Given the description of an element on the screen output the (x, y) to click on. 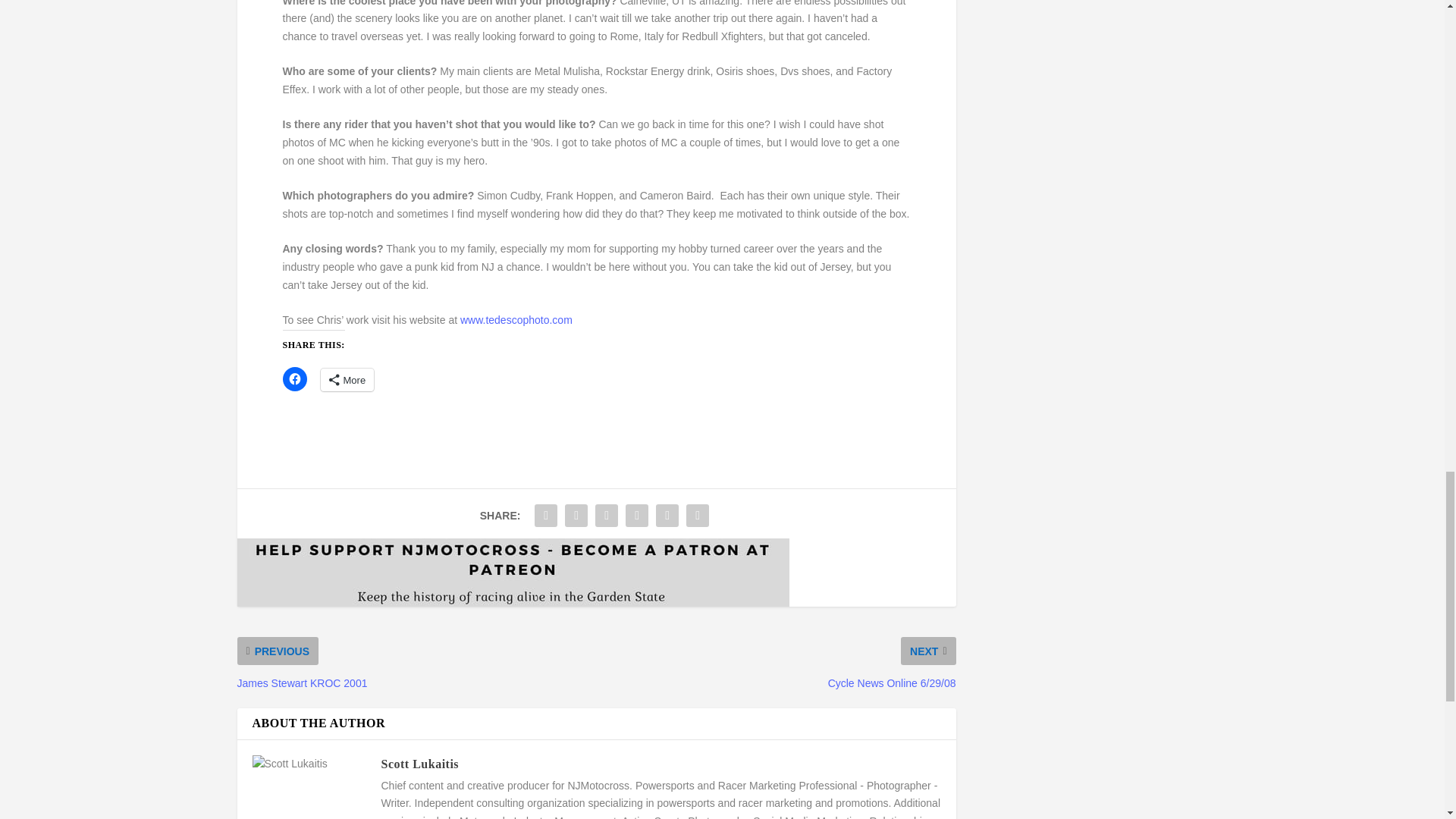
Share "Chris Tedesco Interview" via LinkedIn (606, 515)
www.tedescophoto.com (516, 319)
Share "Chris Tedesco Interview" via Print (697, 515)
View all posts by Scott Lukaitis (419, 763)
Share "Chris Tedesco Interview" via Twitter (575, 515)
Share "Chris Tedesco Interview" via Email (667, 515)
Click to share on Facebook (293, 378)
Share "Chris Tedesco Interview" via Facebook (545, 515)
Share "Chris Tedesco Interview" via Buffer (636, 515)
More (347, 379)
